Given the description of an element on the screen output the (x, y) to click on. 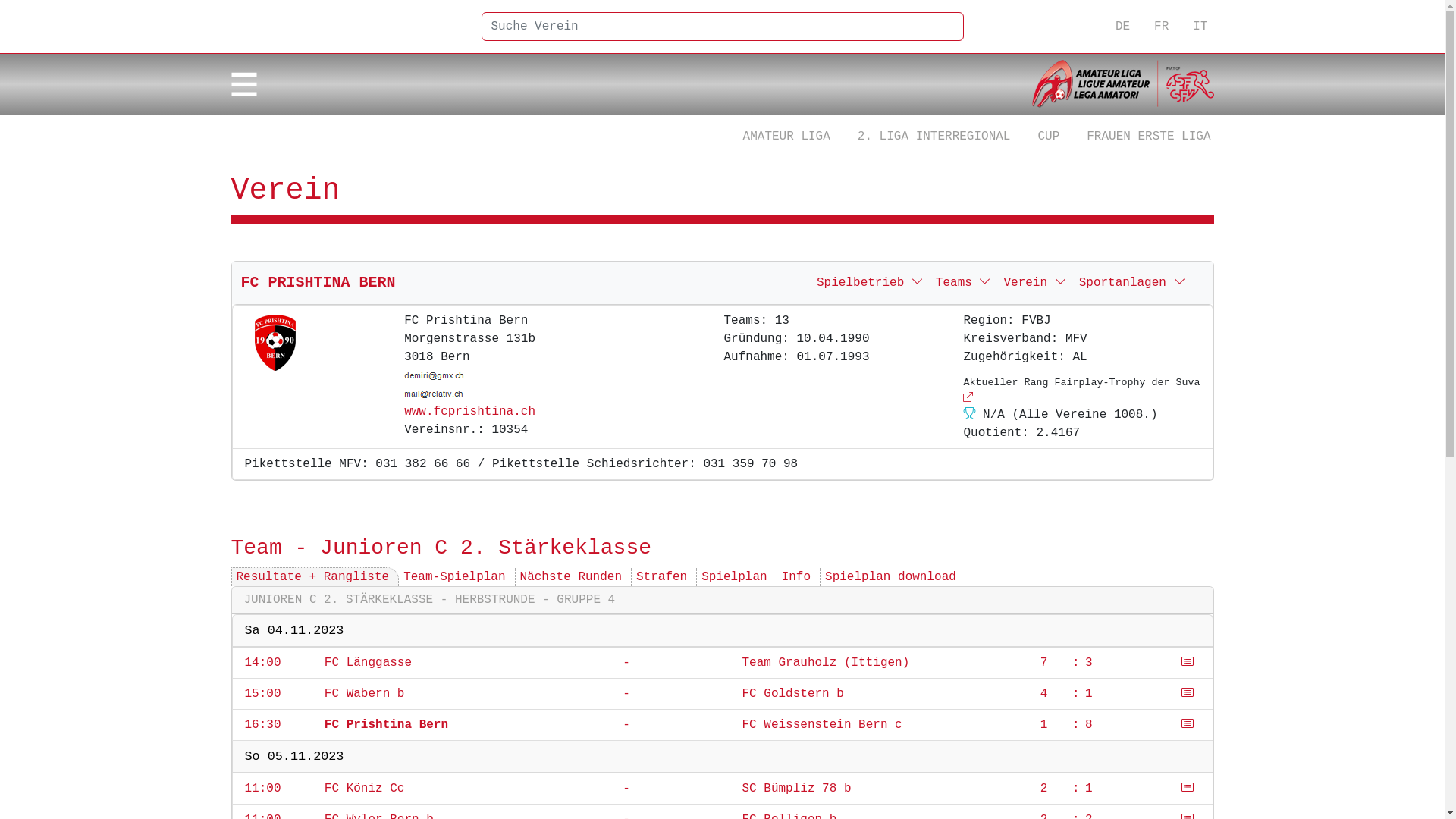
AMATEUR LIGA Element type: text (786, 136)
Spielbetrieb Element type: text (869, 282)
Strafen Element type: text (661, 576)
Sportanlagen Element type: text (1132, 282)
Spielplan download Element type: text (890, 576)
FRAUEN ERSTE LIGA Element type: text (1148, 136)
IT Element type: text (1199, 26)
Teams Element type: text (963, 282)
Verein Element type: text (1034, 282)
CUP Element type: text (1048, 136)
15:00
FC Wabern b
-
FC Goldstern b
4
:
1 Element type: text (722, 693)
2. LIGA INTERREGIONAL Element type: text (933, 136)
FC PRISHTINA BERN Element type: text (318, 281)
16:30
FC Prishtina Bern
-
FC Weissenstein Bern c
1
:
8 Element type: text (722, 724)
Info Element type: text (795, 576)
Spielplan Element type: text (733, 576)
FR Element type: text (1161, 26)
Team-Spielplan Element type: text (454, 576)
AL / LA Element type: hover (1122, 83)
Rangliste Fairplay-Trophy der Suva Element type: hover (967, 397)
DE Element type: text (1122, 26)
www.fcprishtina.ch Element type: text (469, 411)
Resultate + Rangliste Element type: text (312, 576)
